Given the description of an element on the screen output the (x, y) to click on. 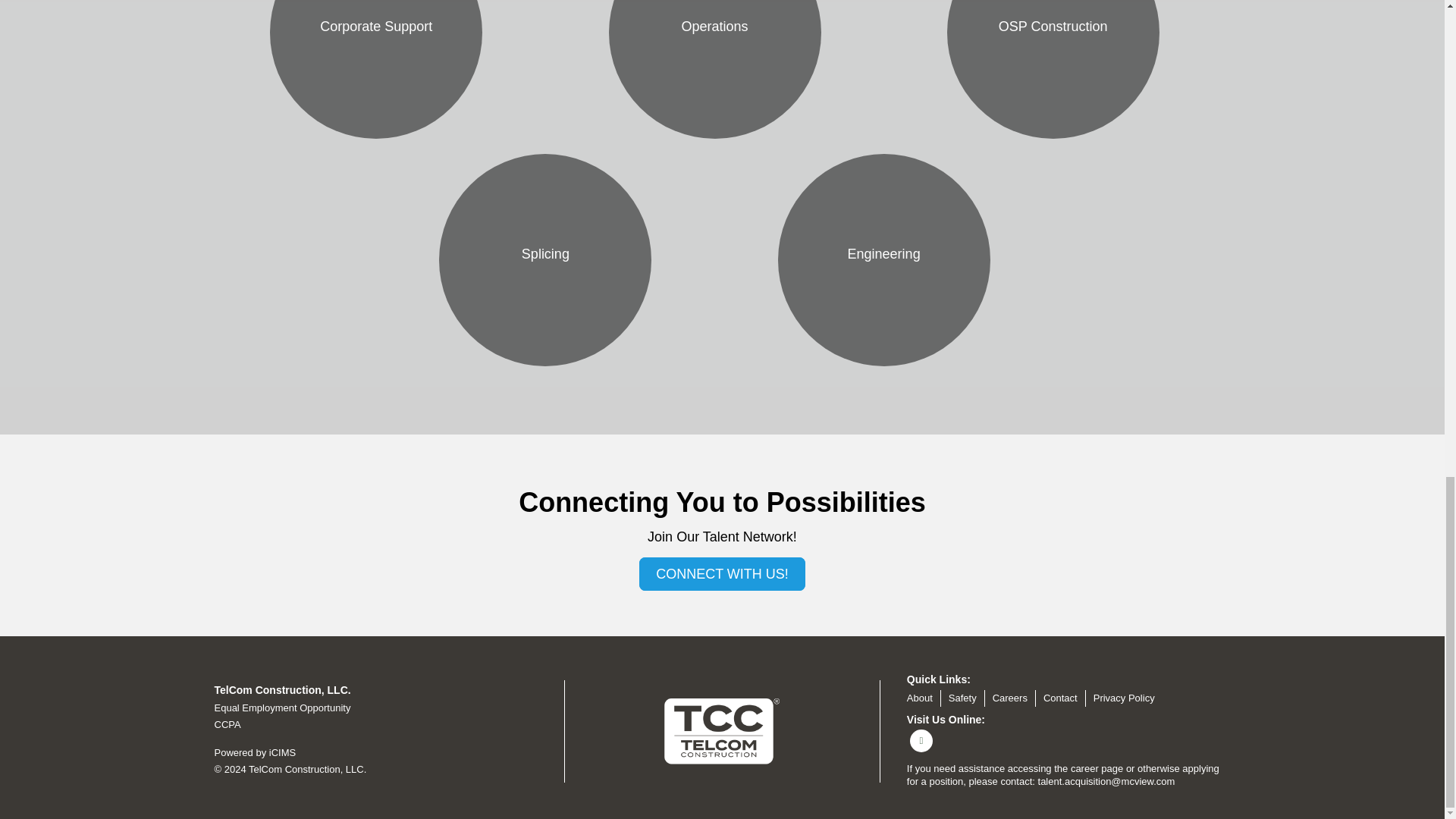
CCPA (227, 724)
Safety (962, 698)
About (920, 698)
Equal Employment Opportunity (282, 707)
Privacy Policy (1123, 698)
Contact (1060, 698)
CONNECT WITH US! (722, 573)
Careers (1009, 698)
